Given the description of an element on the screen output the (x, y) to click on. 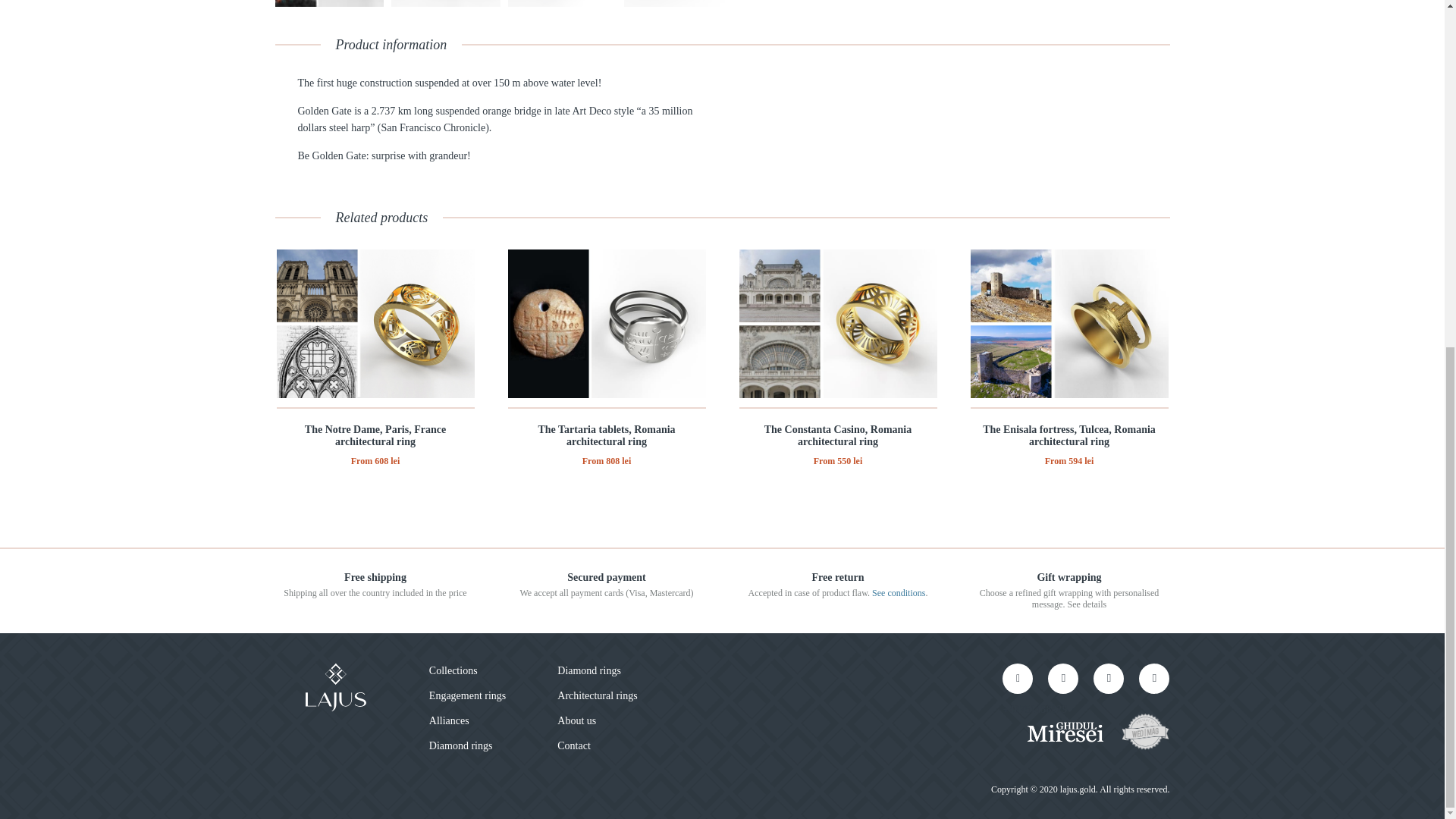
Diamond rings (461, 745)
Engagement rings (467, 695)
About us (576, 720)
Alliances (448, 720)
Collections (453, 670)
Architectural rings (597, 695)
Lajus (334, 687)
See conditions (898, 593)
Diamond rings (589, 670)
